Given the description of an element on the screen output the (x, y) to click on. 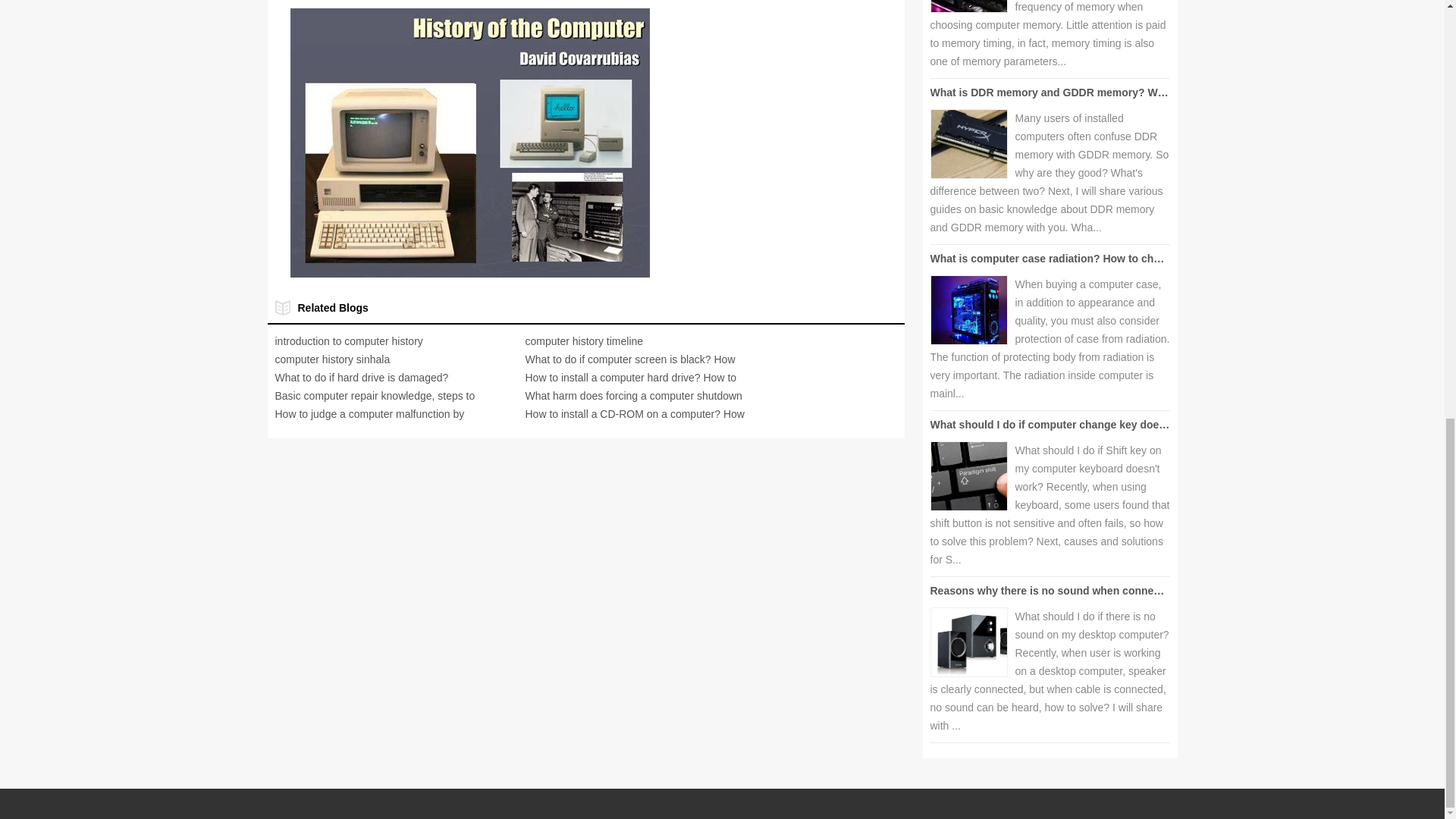
computer history timeline (583, 340)
computer history sinhala (332, 358)
introduction to computer history (348, 340)
introduction to computer history (348, 340)
What is DDR memory and GDDR memory? What is difference? (1087, 92)
